Given the description of an element on the screen output the (x, y) to click on. 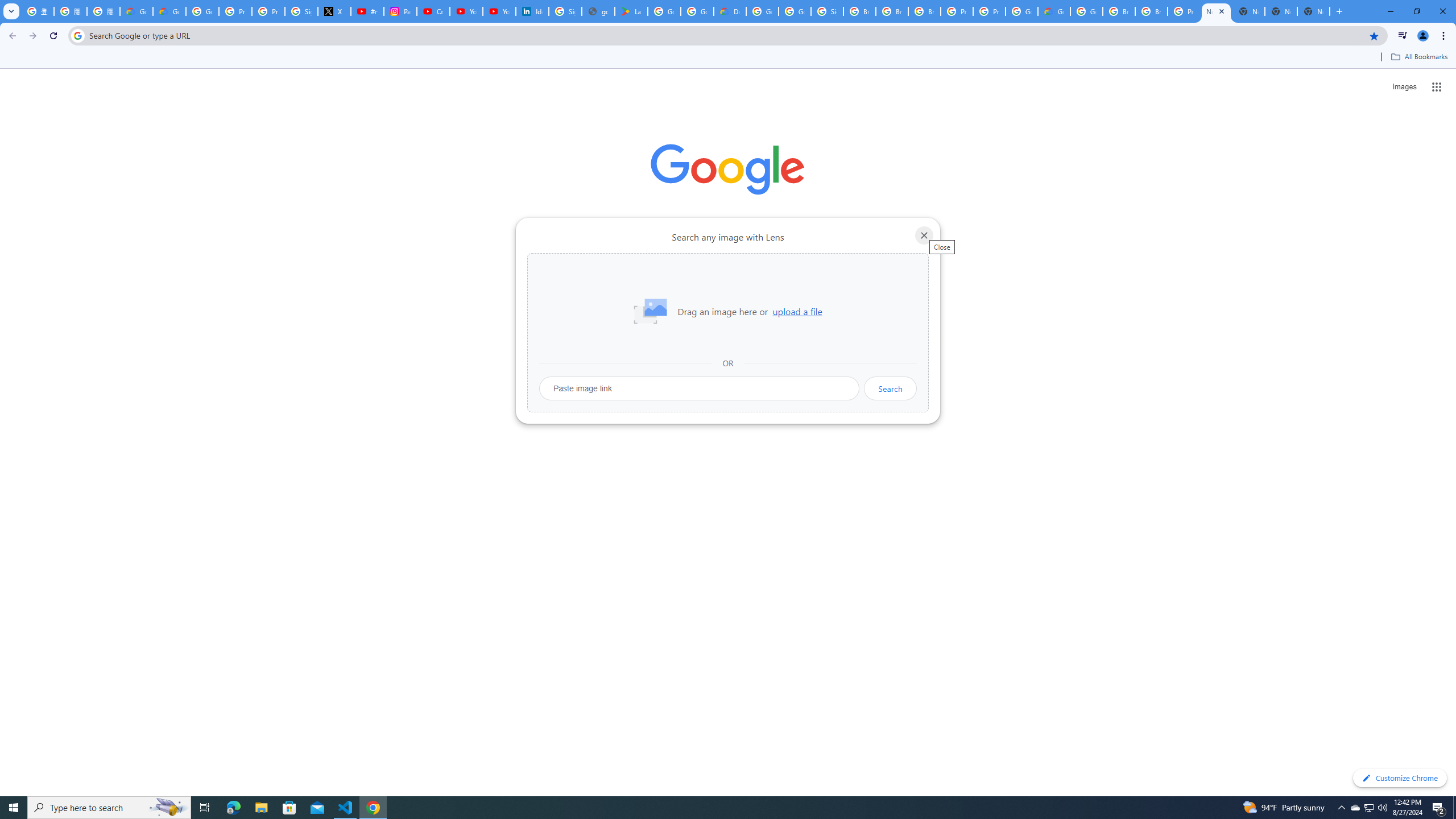
Bookmark this tab (1373, 35)
Bookmarks (728, 58)
Minimize (1390, 11)
Browse Chrome as a guest - Computer - Google Chrome Help (891, 11)
Address and search bar (725, 35)
Paste image link (699, 388)
Identity verification via Persona | LinkedIn Help (532, 11)
Search icon (77, 35)
Search tabs (10, 11)
Google Cloud Platform (1086, 11)
